Given the description of an element on the screen output the (x, y) to click on. 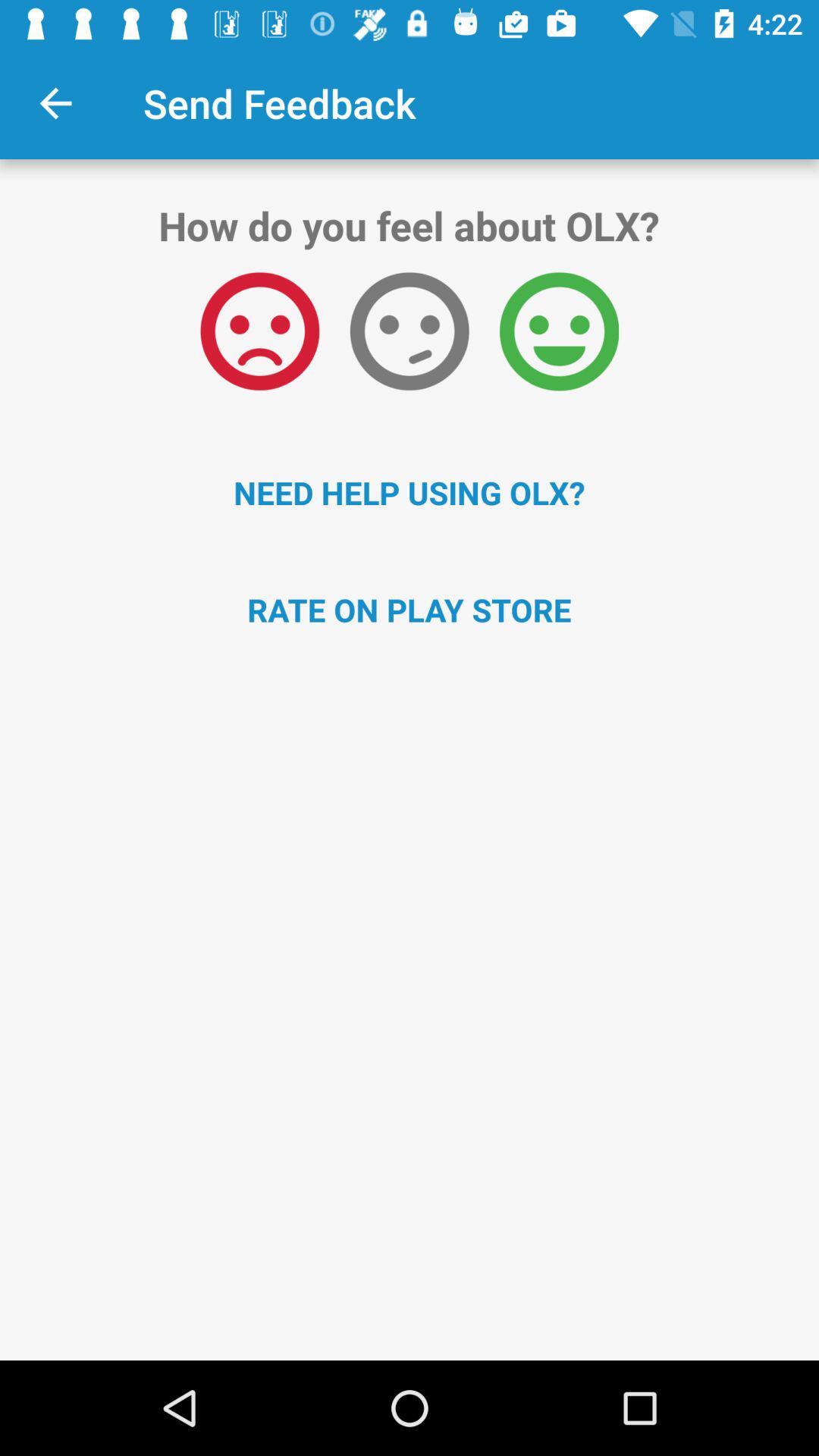
tap item next to send feedback icon (55, 103)
